Given the description of an element on the screen output the (x, y) to click on. 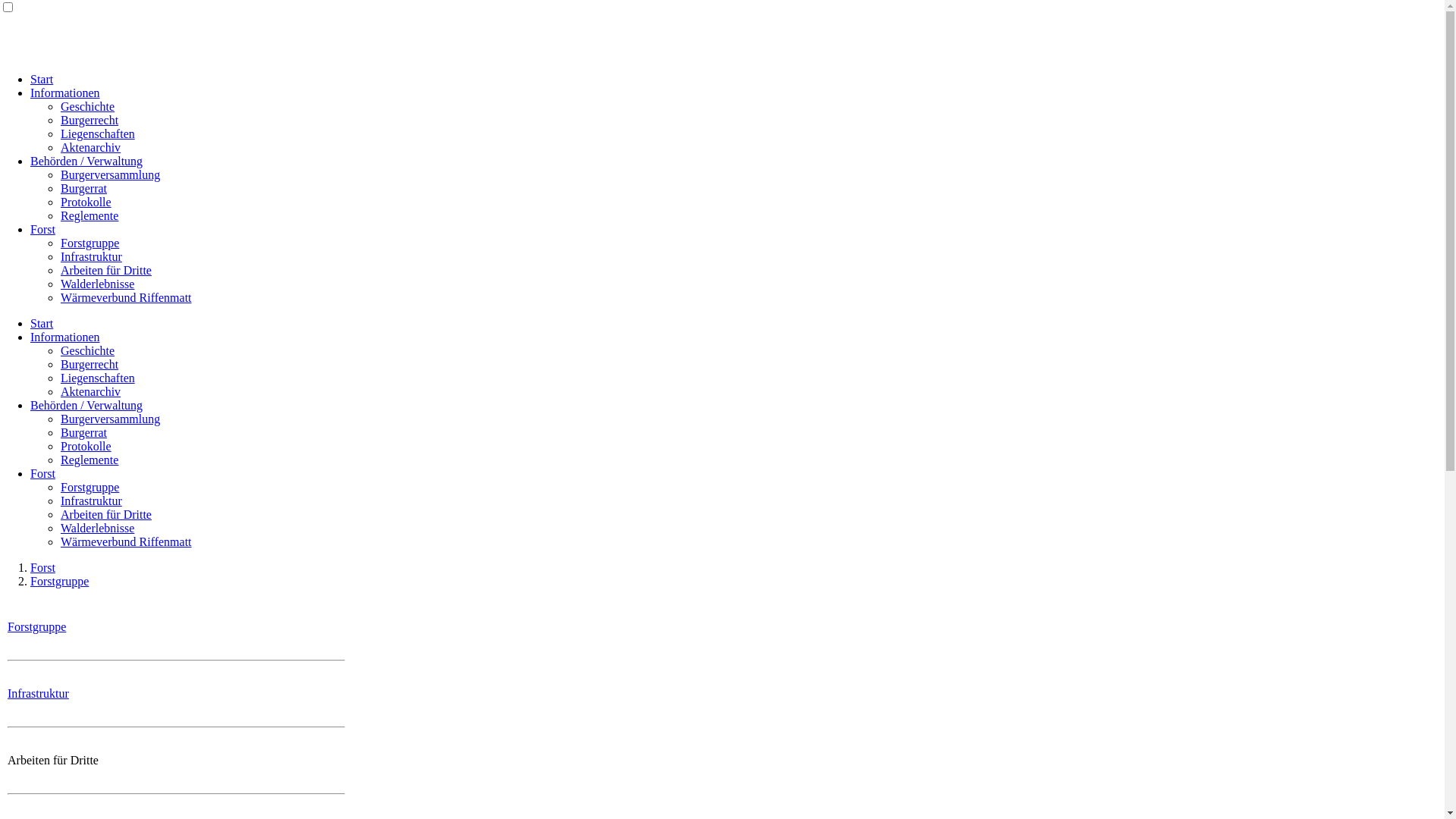
Walderlebnisse Element type: text (97, 283)
Reglemente Element type: text (89, 459)
Infrastruktur Element type: text (91, 500)
Forst Element type: text (42, 567)
Start Element type: text (41, 78)
Liegenschaften Element type: text (97, 133)
Infrastruktur Element type: text (91, 256)
Forst Element type: text (42, 473)
Forstgruppe Element type: text (89, 486)
Burgerrat Element type: text (83, 188)
Informationen Element type: text (65, 92)
Infrastruktur Element type: text (38, 693)
Burgerversammlung Element type: text (110, 418)
Geschichte Element type: text (87, 350)
Burgerversammlung Element type: text (110, 174)
Forst Element type: text (42, 228)
Start Element type: text (41, 322)
Forstgruppe Element type: text (59, 580)
Burgerrat Element type: text (83, 432)
Informationen Element type: text (65, 336)
Geschichte Element type: text (87, 106)
Reglemente Element type: text (89, 215)
Protokolle Element type: text (85, 201)
Aktenarchiv Element type: text (90, 147)
Walderlebnisse Element type: text (97, 527)
Burgerrecht Element type: text (89, 363)
Forstgruppe Element type: text (36, 626)
Forstgruppe Element type: text (89, 242)
Aktenarchiv Element type: text (90, 391)
Liegenschaften Element type: text (97, 377)
Protokolle Element type: text (85, 445)
Burgerrecht Element type: text (89, 119)
